Given the description of an element on the screen output the (x, y) to click on. 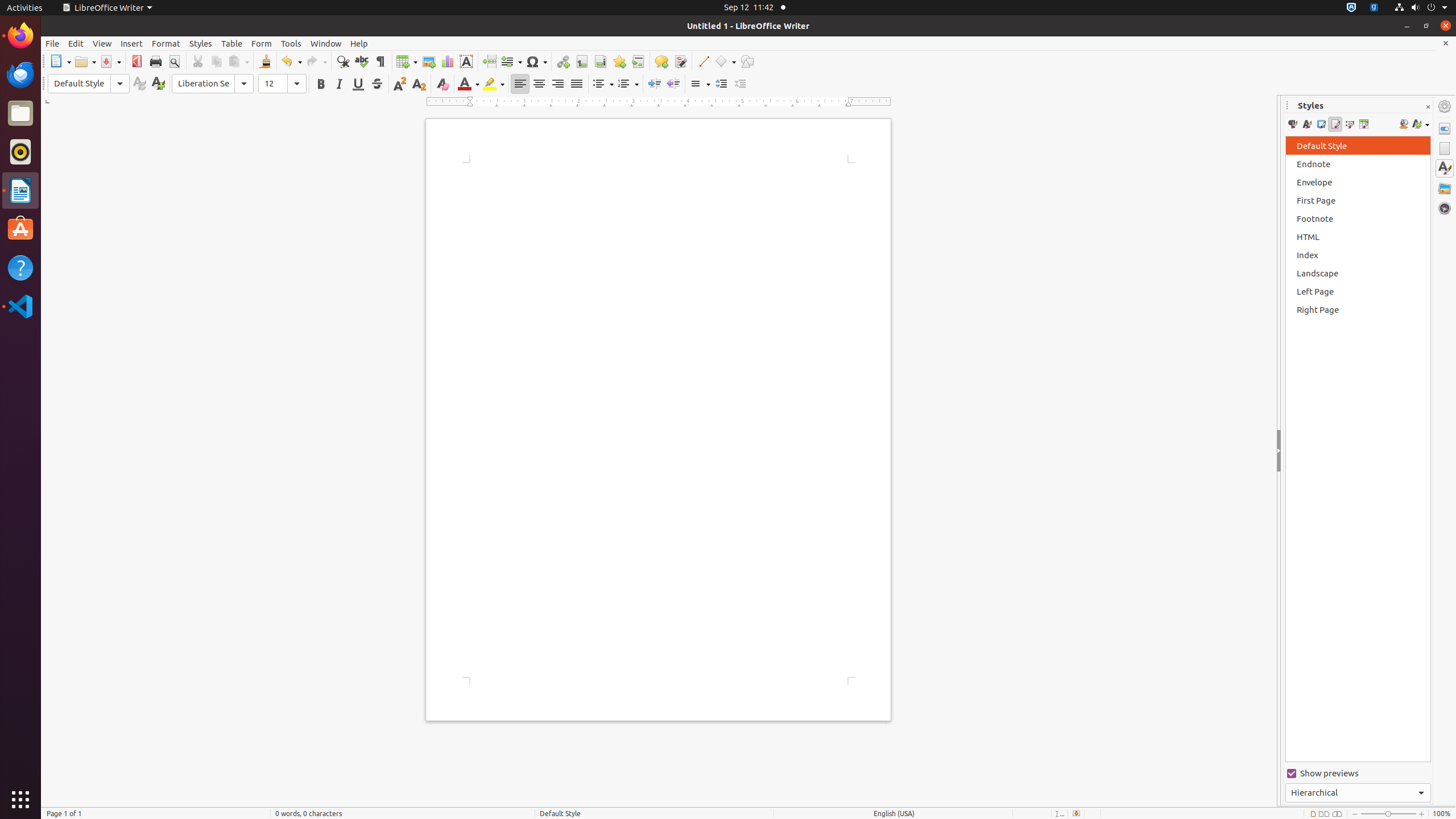
Print Element type: push-button (155, 61)
LibreOffice Writer Element type: menu (106, 7)
Help Element type: menu (358, 43)
Decrease Element type: push-button (739, 83)
LibreOffice Writer Element type: push-button (20, 190)
